Given the description of an element on the screen output the (x, y) to click on. 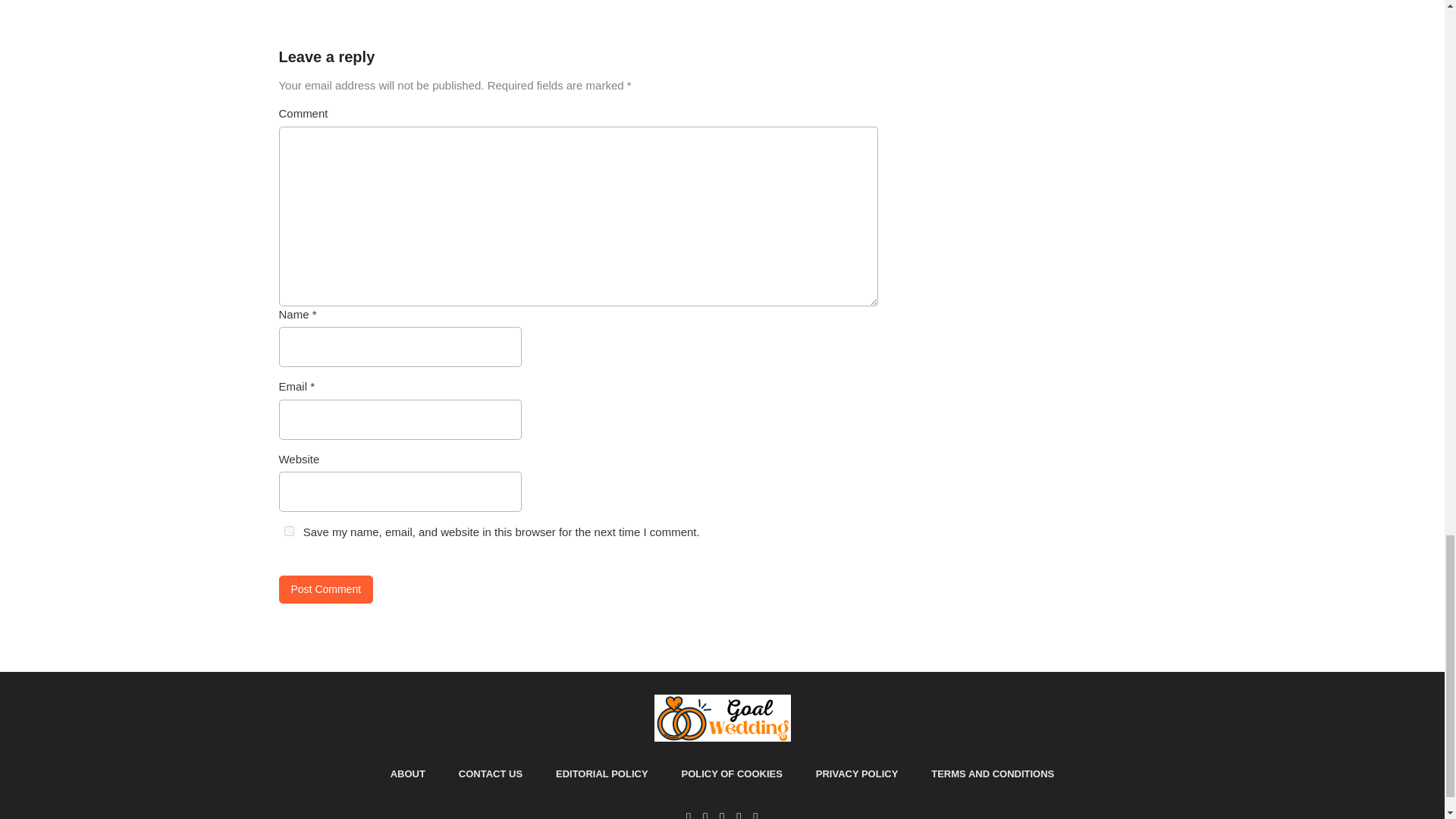
Post Comment (326, 589)
Post Comment (326, 589)
yes (288, 531)
